Given the description of an element on the screen output the (x, y) to click on. 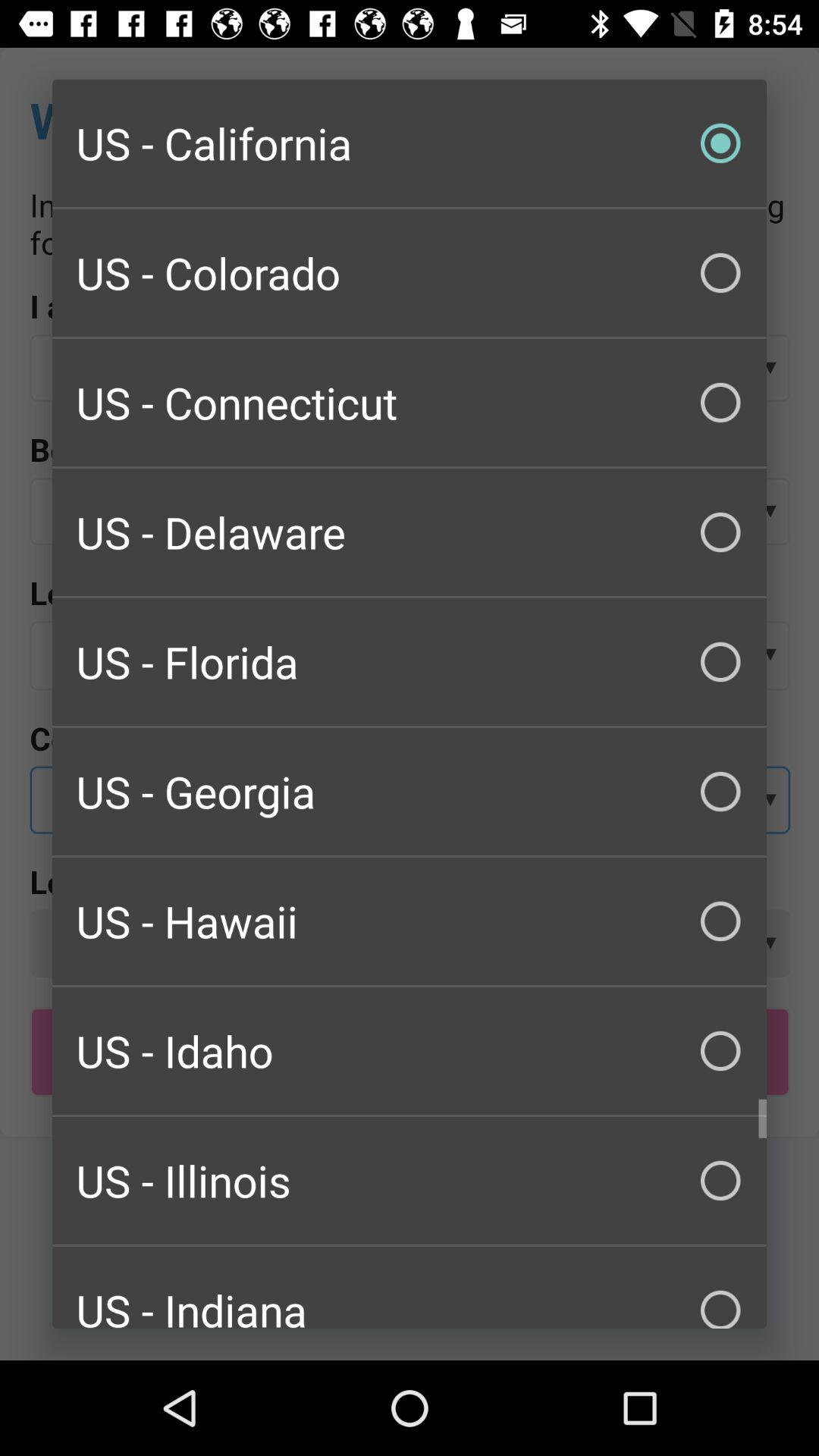
tap the icon above us - florida checkbox (409, 532)
